Given the description of an element on the screen output the (x, y) to click on. 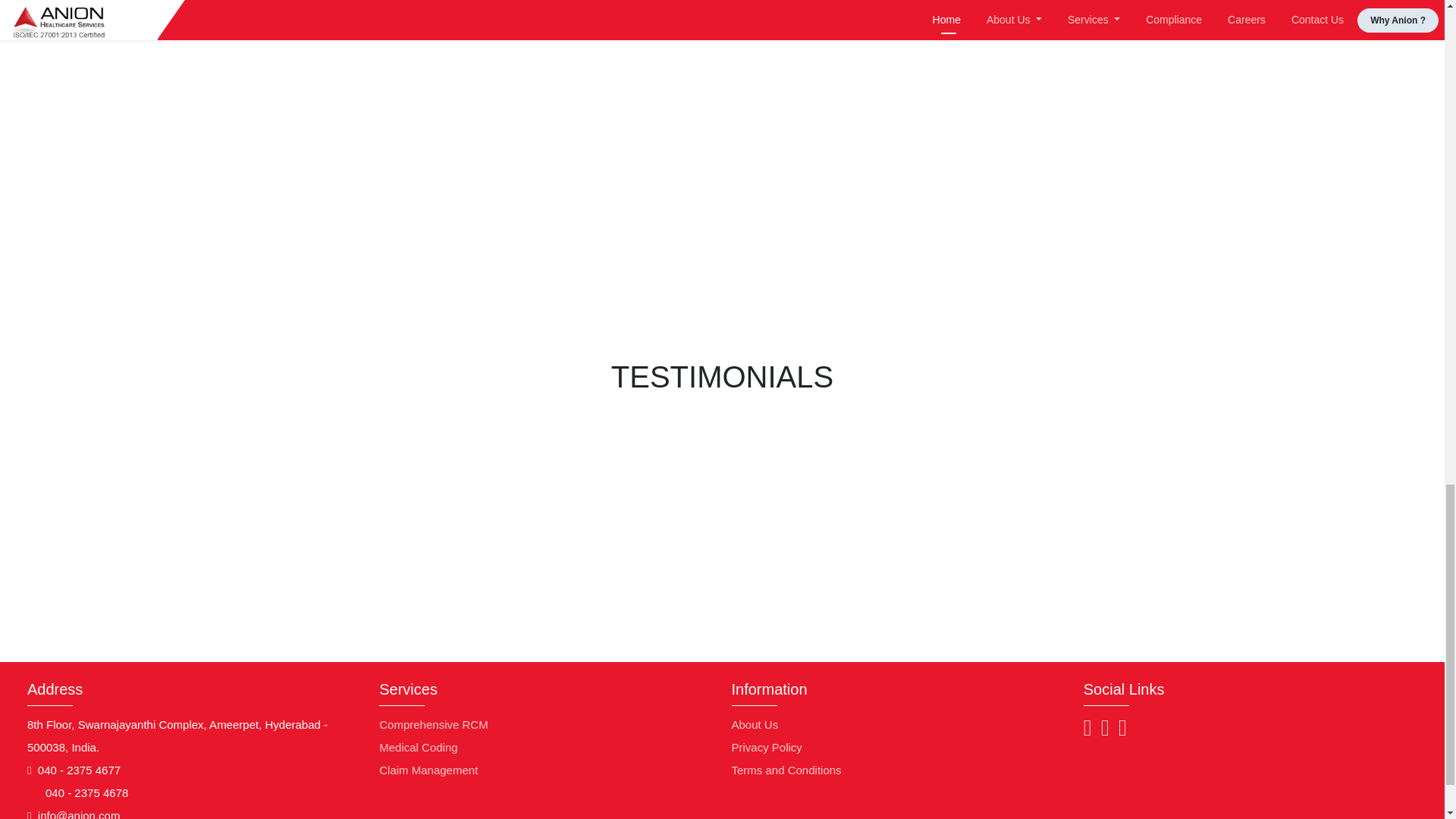
Claim Management (427, 769)
Privacy Policy (766, 747)
About Us (753, 724)
Comprehensive RCM (432, 724)
Medical Coding (417, 747)
Terms and Conditions (785, 769)
